Given the description of an element on the screen output the (x, y) to click on. 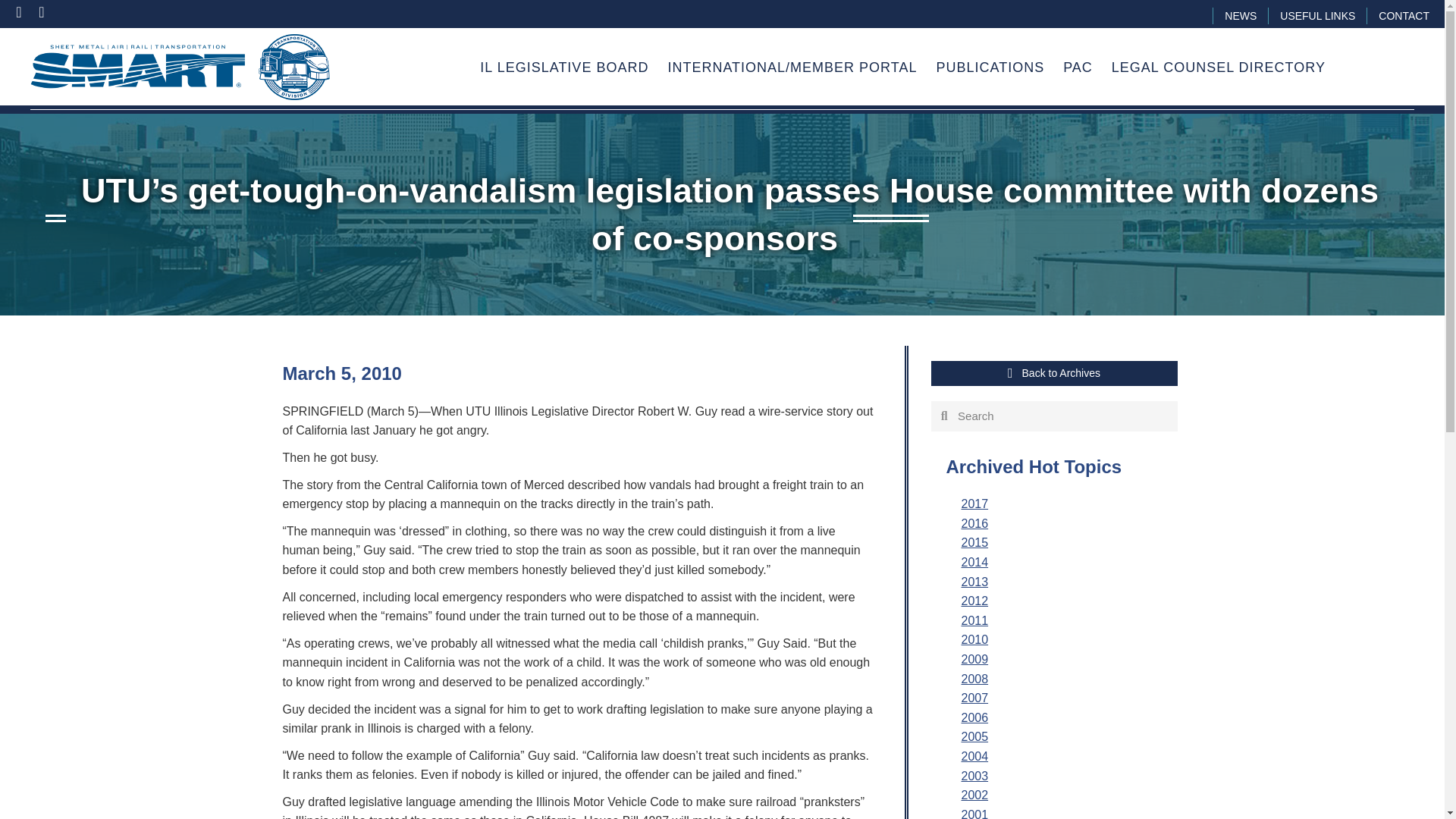
CONTACT (1404, 15)
LEGAL COUNSEL DIRECTORY (1218, 68)
2014 (974, 562)
2013 (974, 581)
2017 (974, 503)
2009 (974, 658)
PUBLICATIONS (989, 68)
NEWS (1240, 15)
2006 (974, 717)
2012 (974, 600)
